Given the description of an element on the screen output the (x, y) to click on. 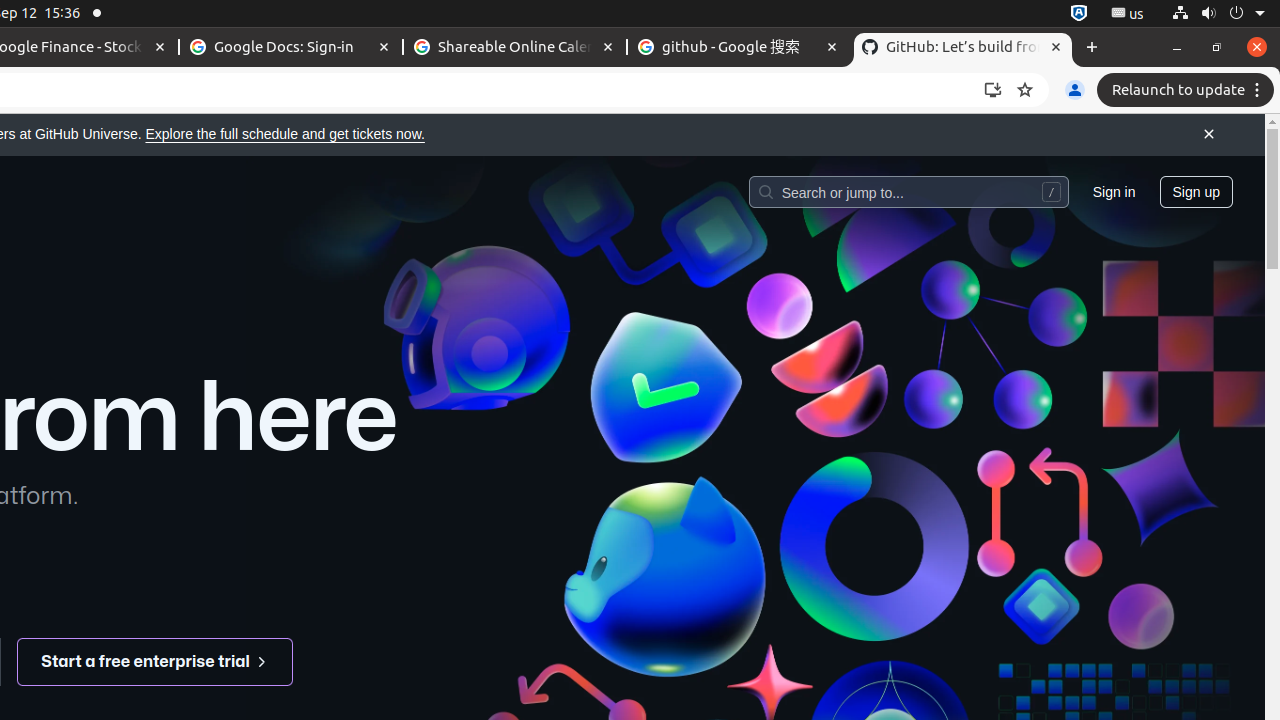
Relaunch to update Element type: push-button (1188, 90)
:1.21/StatusNotifierItem Element type: menu (1127, 13)
System Element type: menu (1218, 13)
Sign in Element type: link (1114, 191)
Bookmark this tab Element type: push-button (1025, 90)
